Given the description of an element on the screen output the (x, y) to click on. 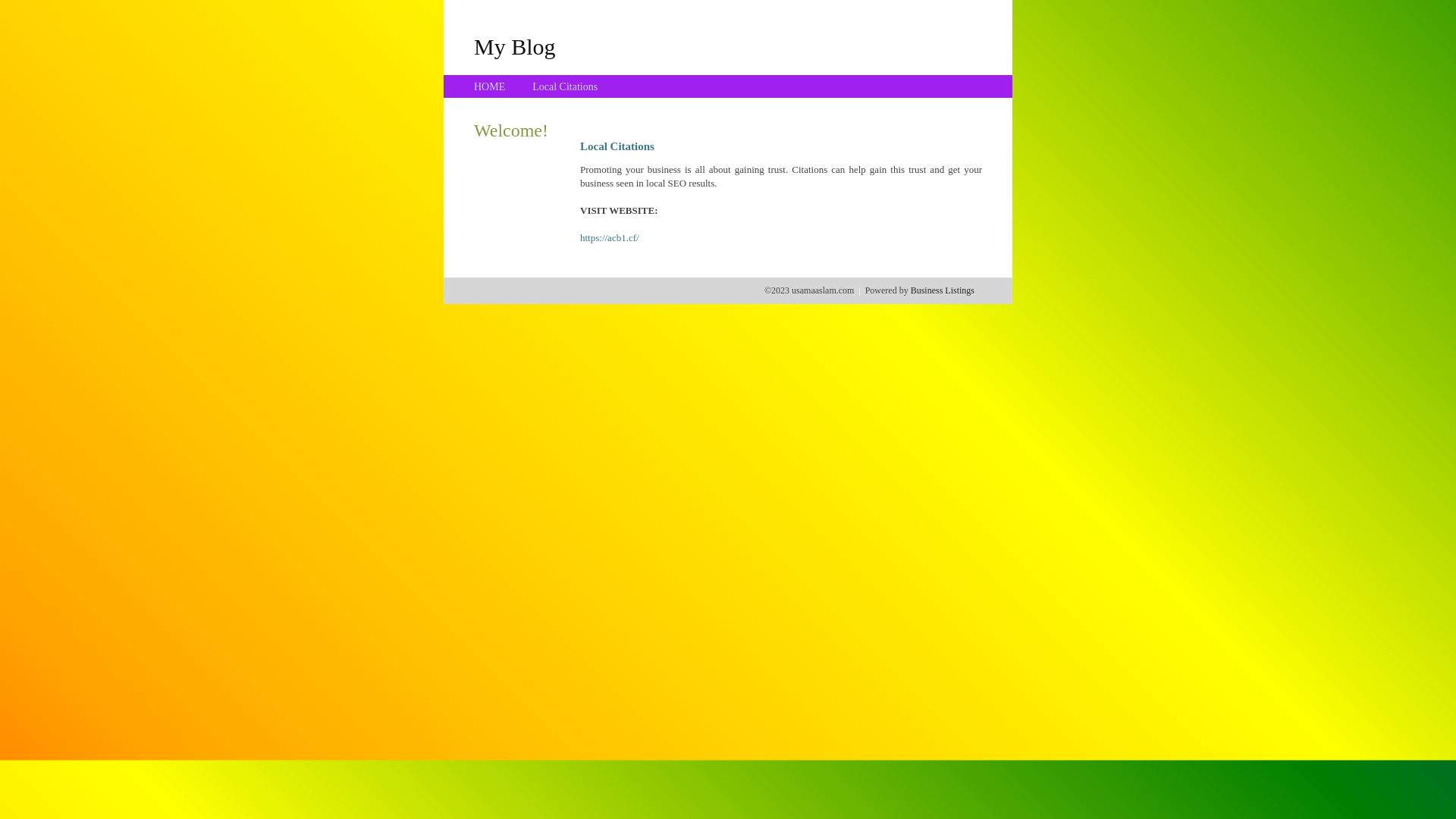
Local Citations Element type: text (564, 86)
https://acb1.cf/ Element type: text (609, 237)
My Blog Element type: text (514, 46)
Business Listings Element type: text (942, 290)
HOME Element type: text (489, 86)
